Given the description of an element on the screen output the (x, y) to click on. 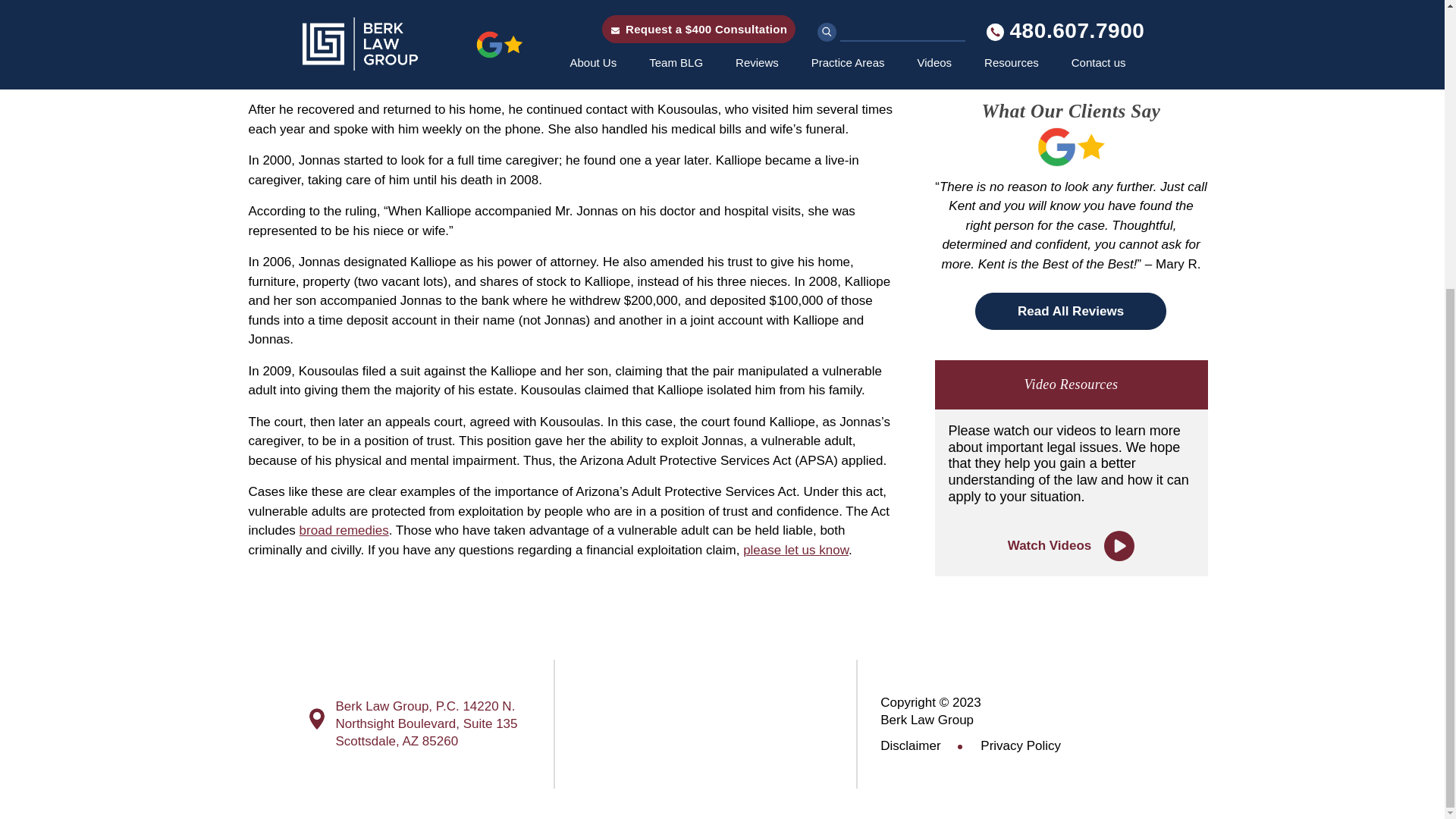
Request a Consultation (1070, 38)
1 (961, 7)
